Given the description of an element on the screen output the (x, y) to click on. 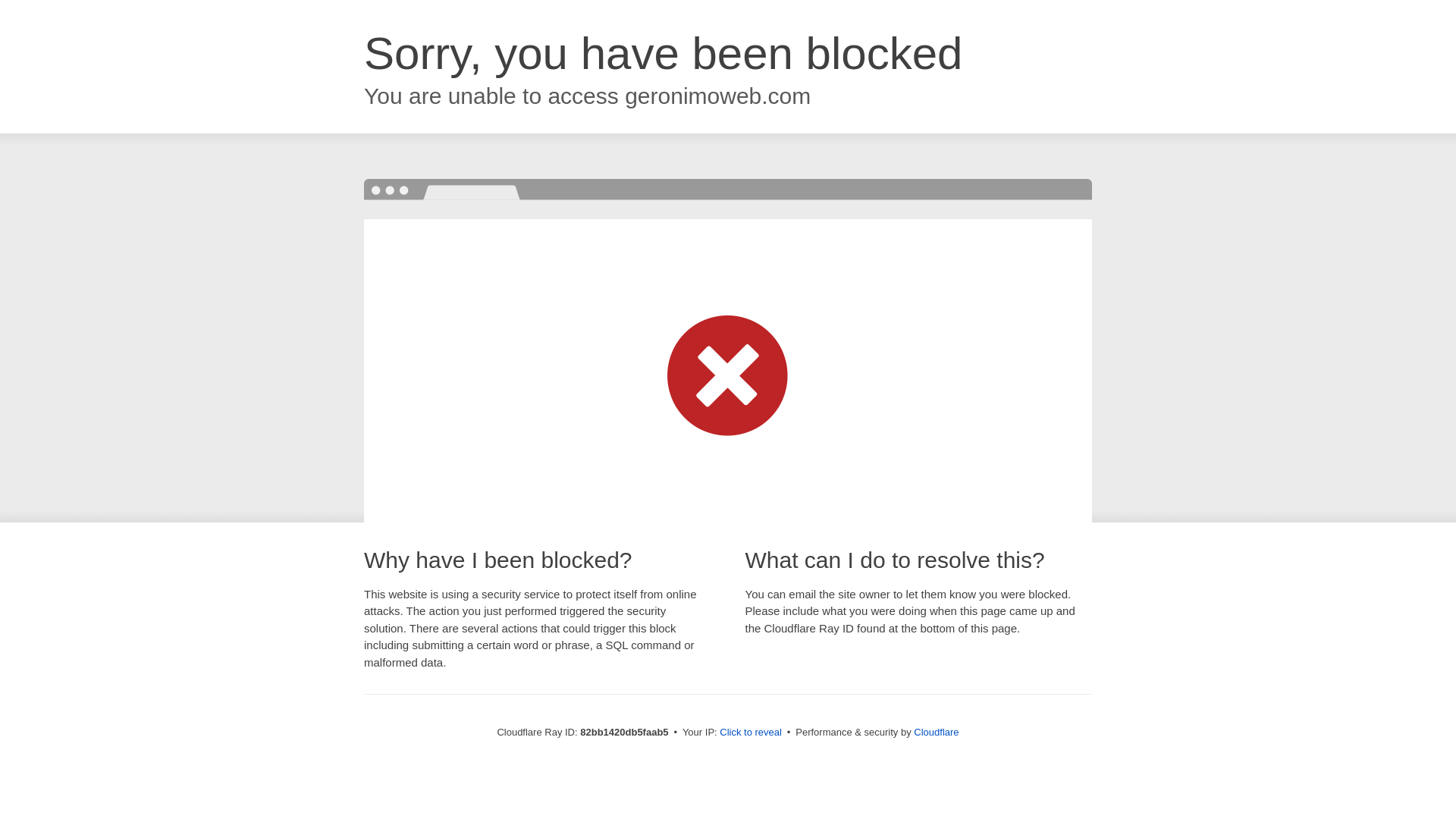
Cloudflare Element type: text (935, 731)
Click to reveal Element type: text (750, 732)
